Given the description of an element on the screen output the (x, y) to click on. 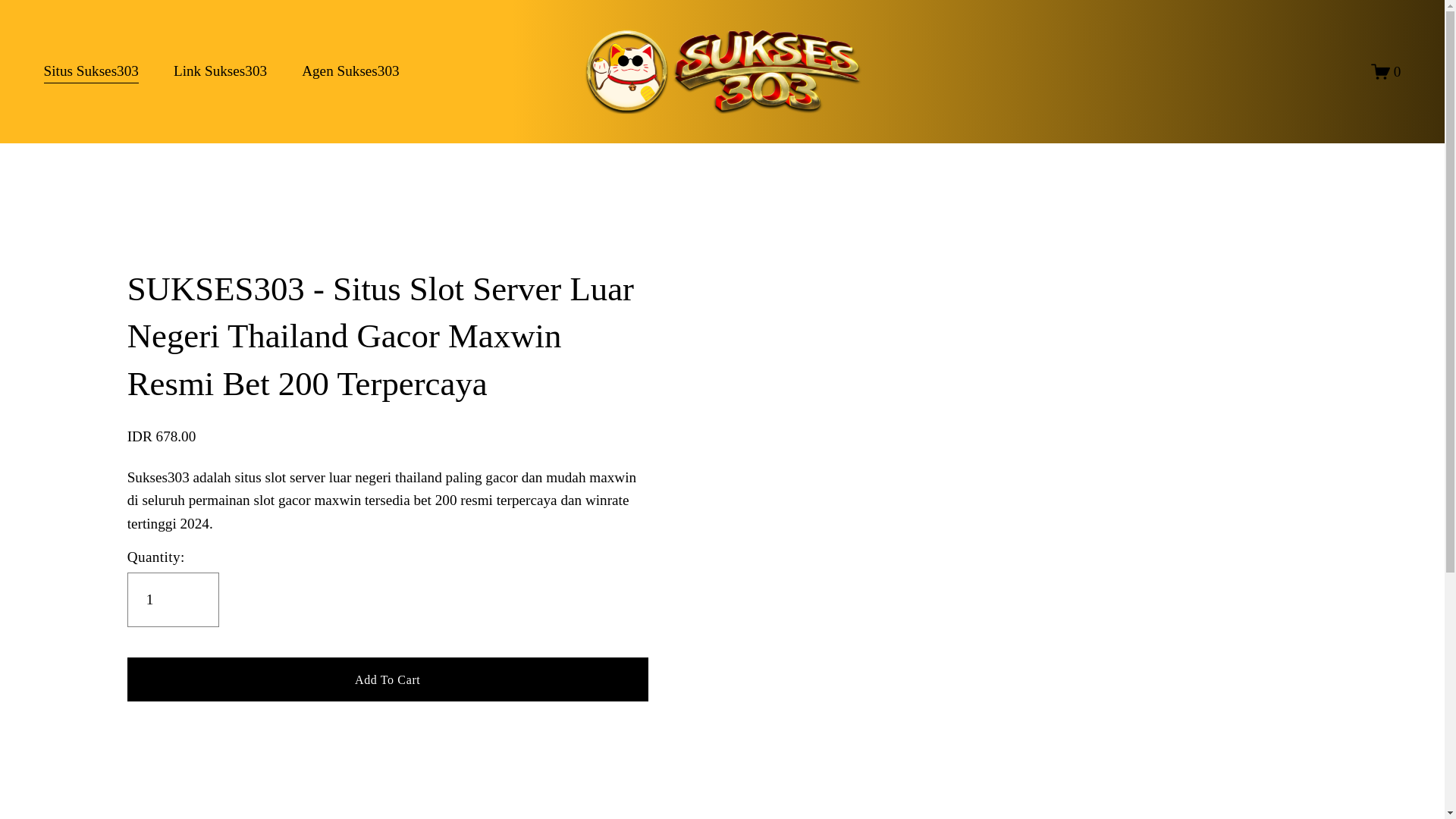
LOGIN (361, 107)
0 (1385, 71)
Add To Cart (387, 678)
Link Sukses303 (219, 71)
Situs Sukses303 (90, 71)
1 (173, 599)
Agen Sukses303 (349, 71)
